Given the description of an element on the screen output the (x, y) to click on. 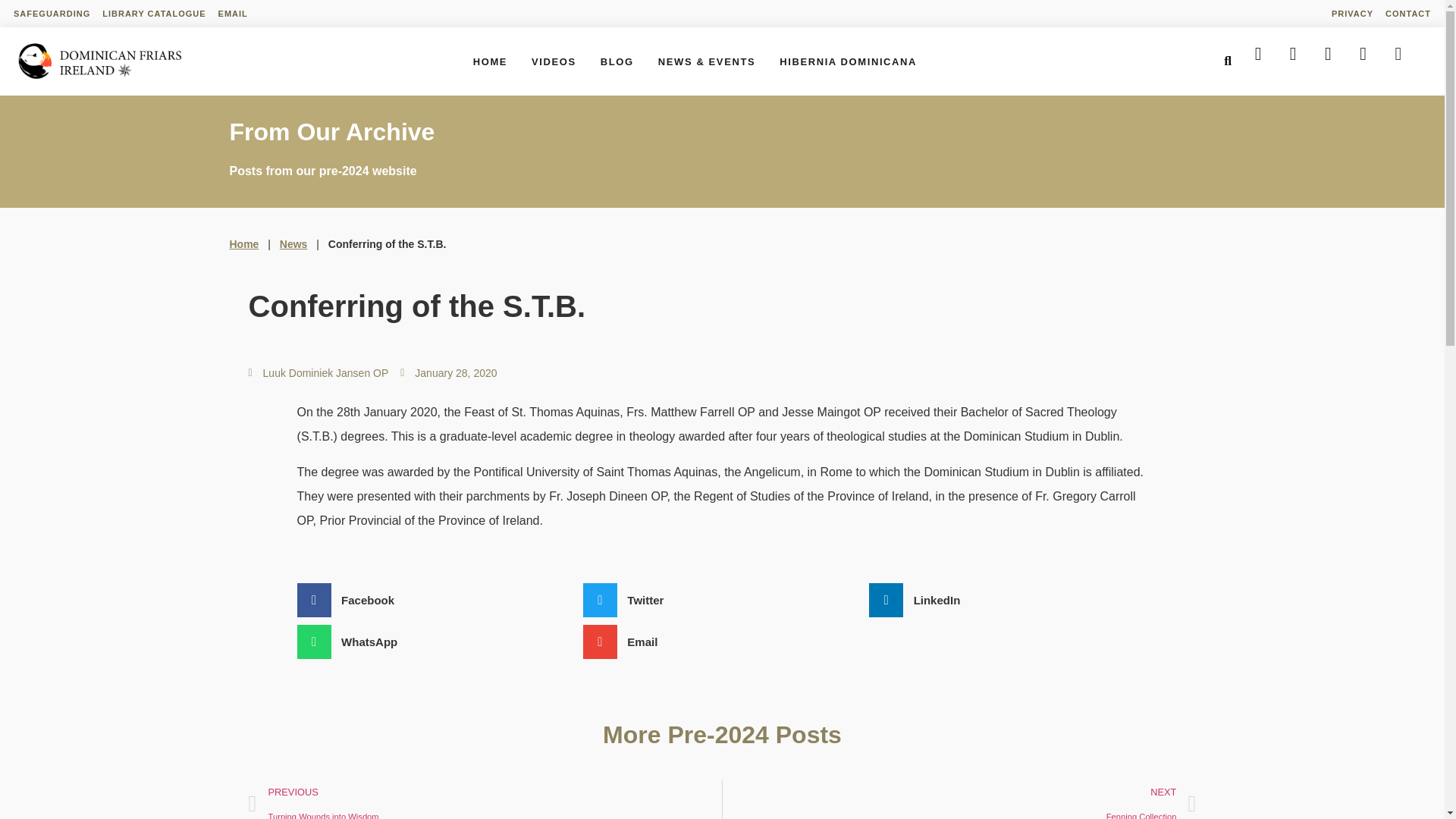
January 28, 2020 (448, 372)
SAFEGUARDING (51, 13)
Home (243, 244)
News (293, 244)
LIBRARY CATALOGUE (153, 13)
HIBERNIA DOMINICANA (847, 61)
CONTACT (1407, 13)
BLOG (616, 61)
HOME (958, 799)
EMAIL (489, 61)
Luuk Dominiek Jansen OP (485, 799)
VIDEOS (232, 13)
PRIVACY (318, 372)
